Given the description of an element on the screen output the (x, y) to click on. 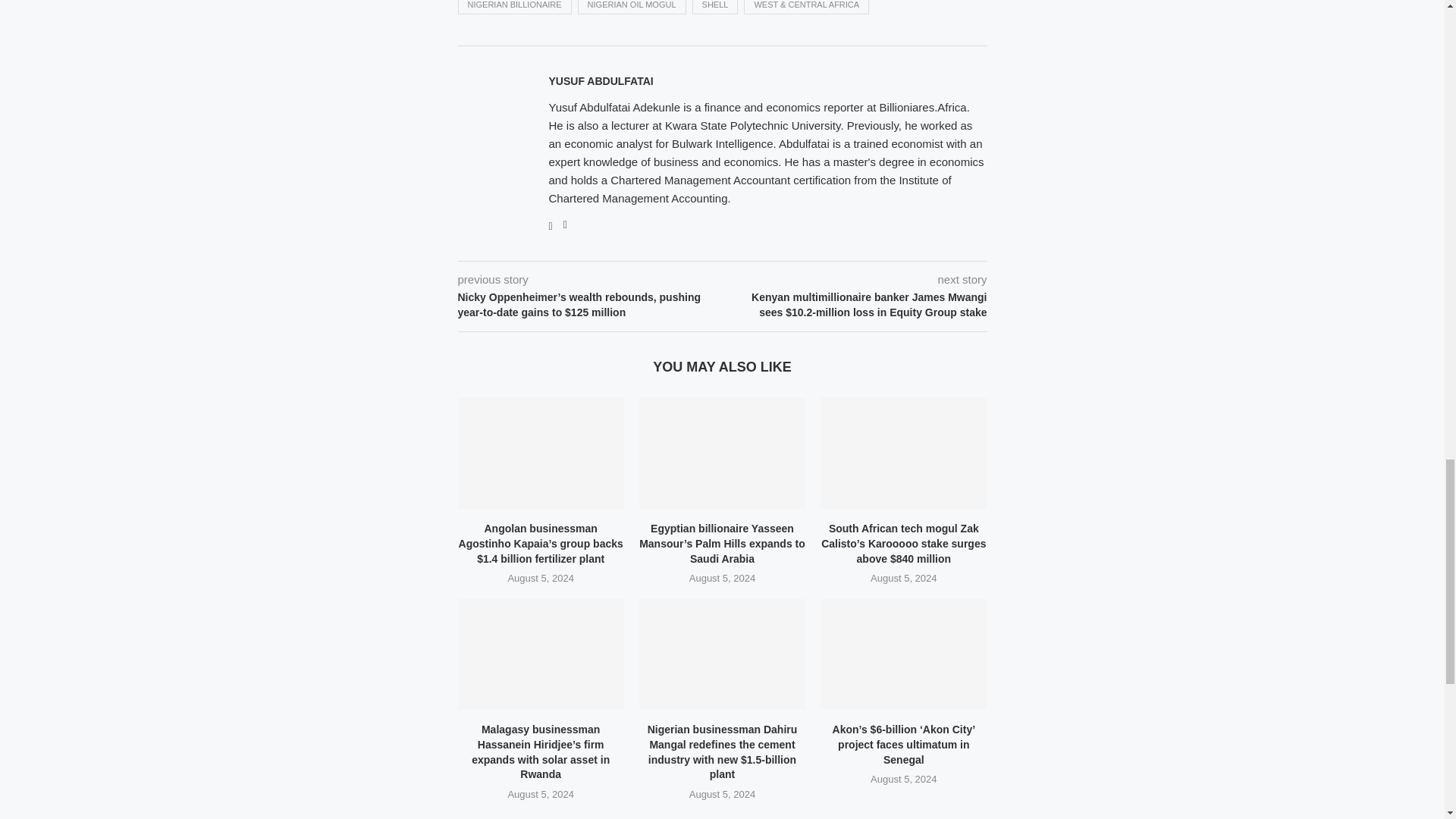
 Yusuf Abdulfatai (600, 80)
